Given the description of an element on the screen output the (x, y) to click on. 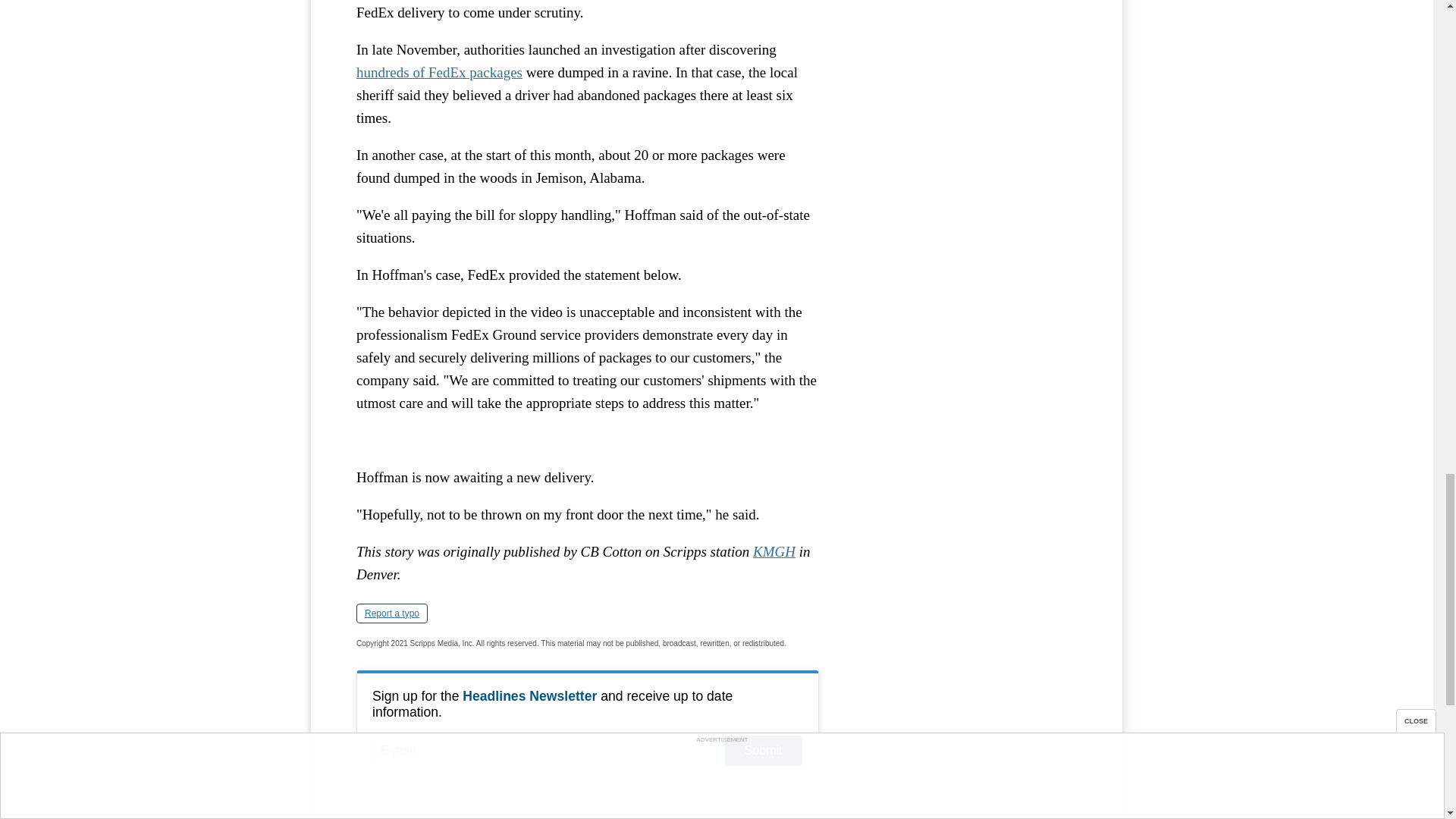
Submit (763, 750)
